Given the description of an element on the screen output the (x, y) to click on. 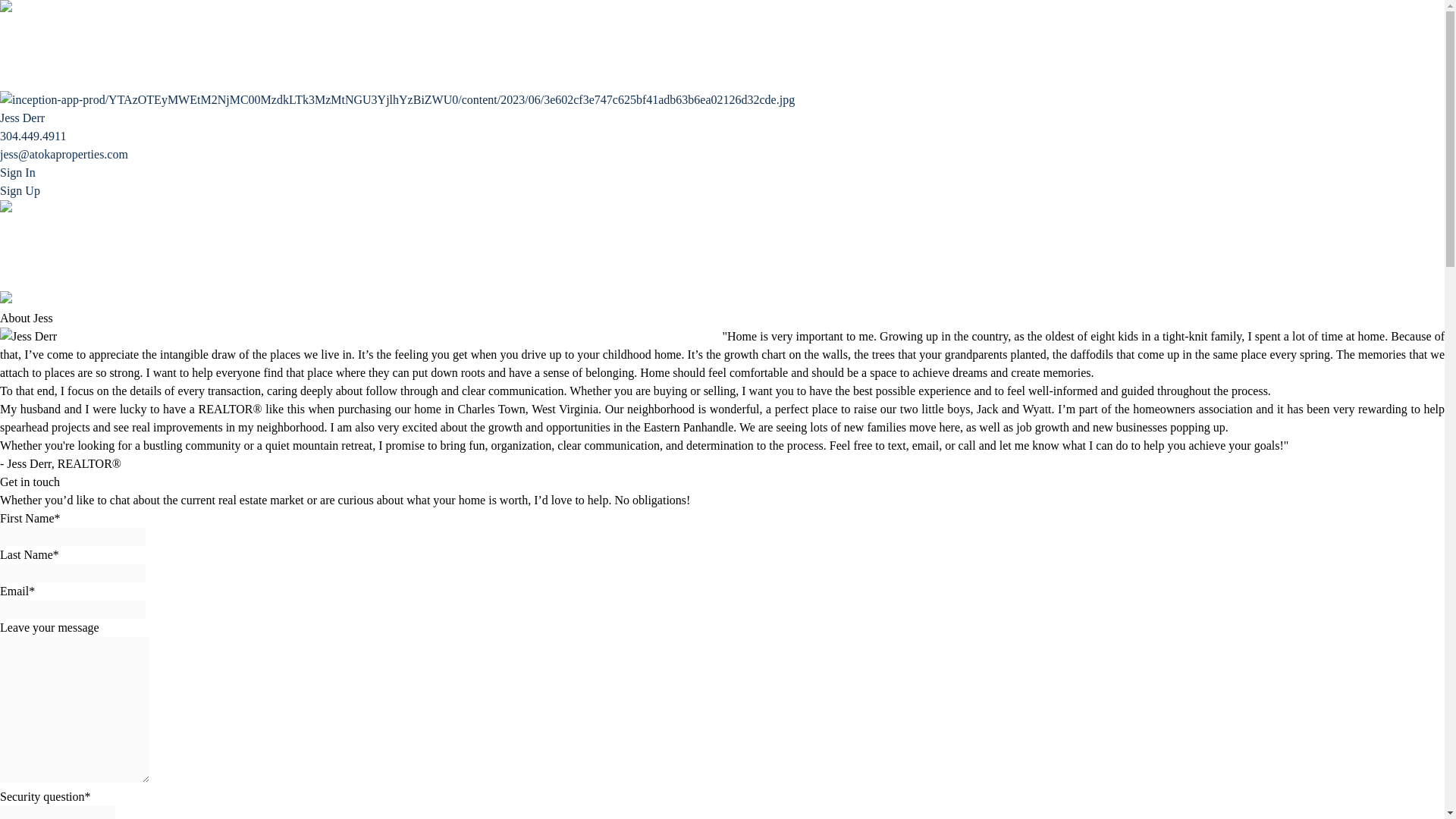
Contact (18, 281)
Contact (18, 281)
Jess Derr (361, 336)
Contact (18, 81)
Featured Homes (40, 26)
304.449.4911 (32, 135)
Contact (18, 81)
About Jess (26, 263)
About Jess (26, 62)
Featured Homes (40, 226)
Featured Homes (40, 26)
About Jess (26, 62)
Featured Homes (40, 226)
About Jess (26, 263)
304.449.4911 (32, 135)
